Given the description of an element on the screen output the (x, y) to click on. 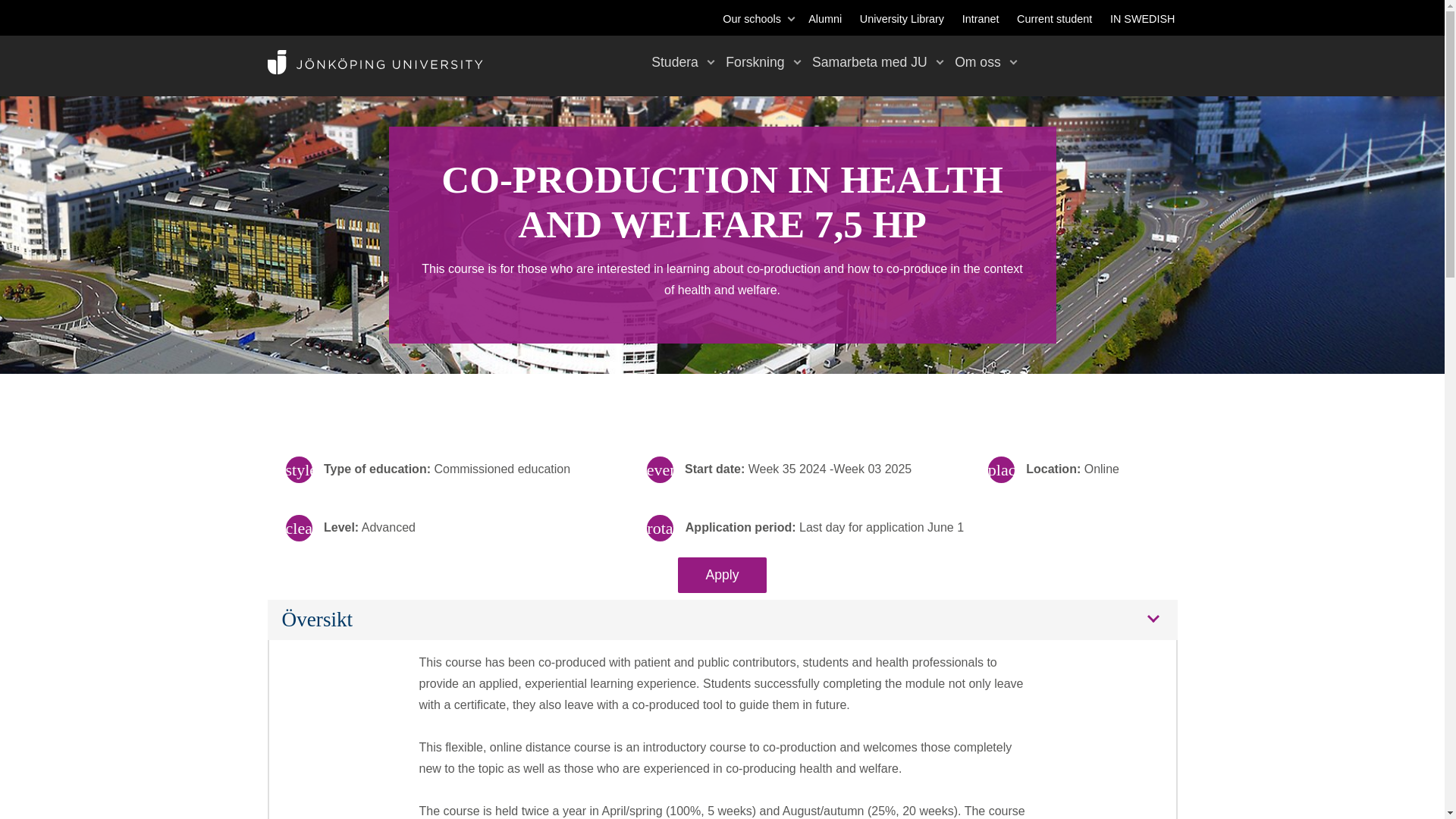
University Library (901, 19)
Alumni (824, 19)
University Library (901, 19)
Current student (1054, 19)
Forskning (754, 61)
IN SWEDISH (1141, 19)
Expand submenu for Samarbeta med JU (939, 61)
Intranet (980, 19)
Expand submenu for Studera (710, 61)
Studera (674, 61)
